Given the description of an element on the screen output the (x, y) to click on. 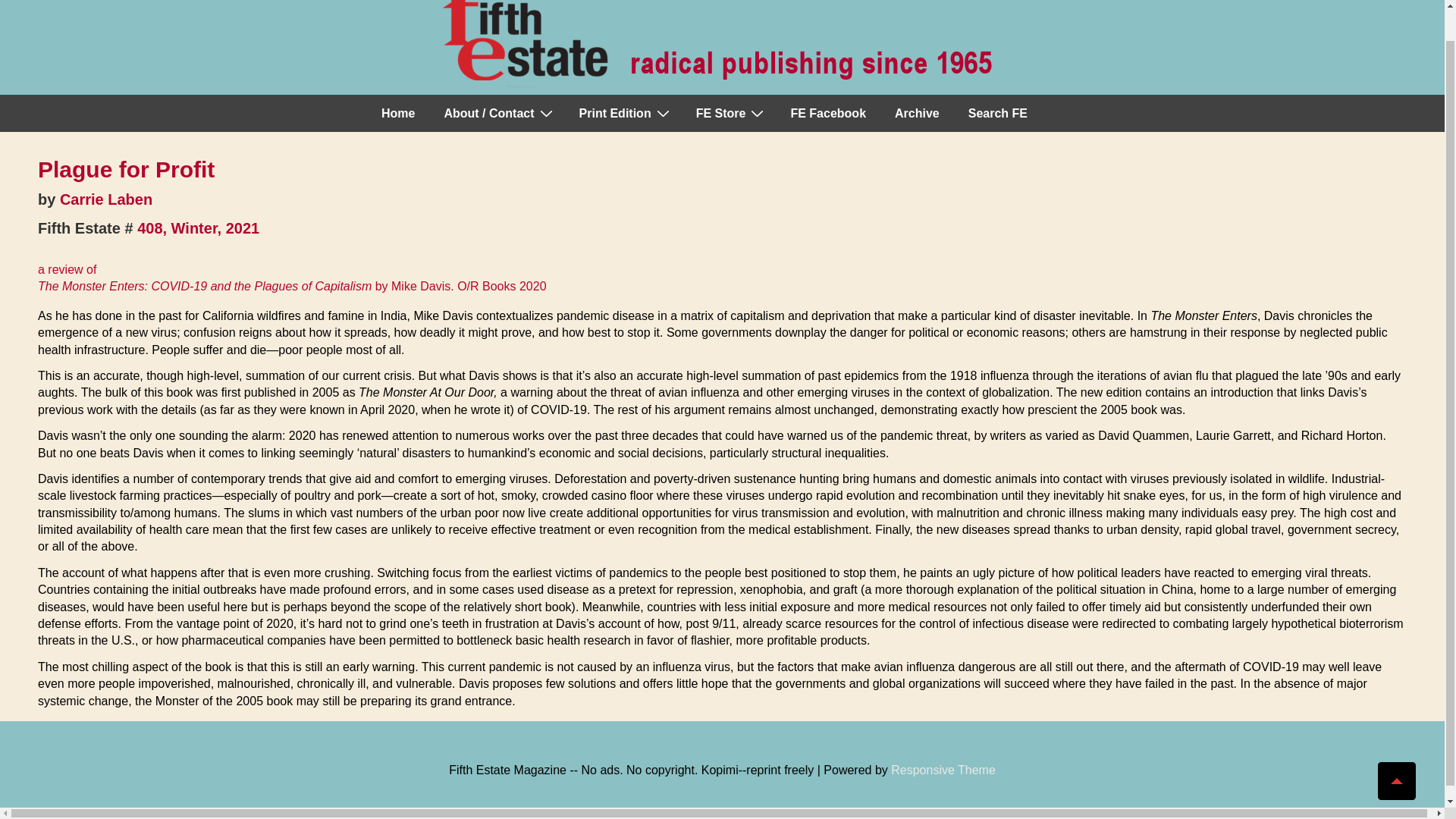
Top (1396, 748)
Search FE (998, 113)
408, Winter, 2021 (197, 228)
Recordings (729, 113)
Print Edition (623, 113)
Archive (916, 113)
Carrie Laben (105, 199)
FE Facebook (827, 113)
FE Store (729, 113)
Responsive Theme (943, 769)
Scroll to Top (1396, 748)
Home (398, 113)
